Given the description of an element on the screen output the (x, y) to click on. 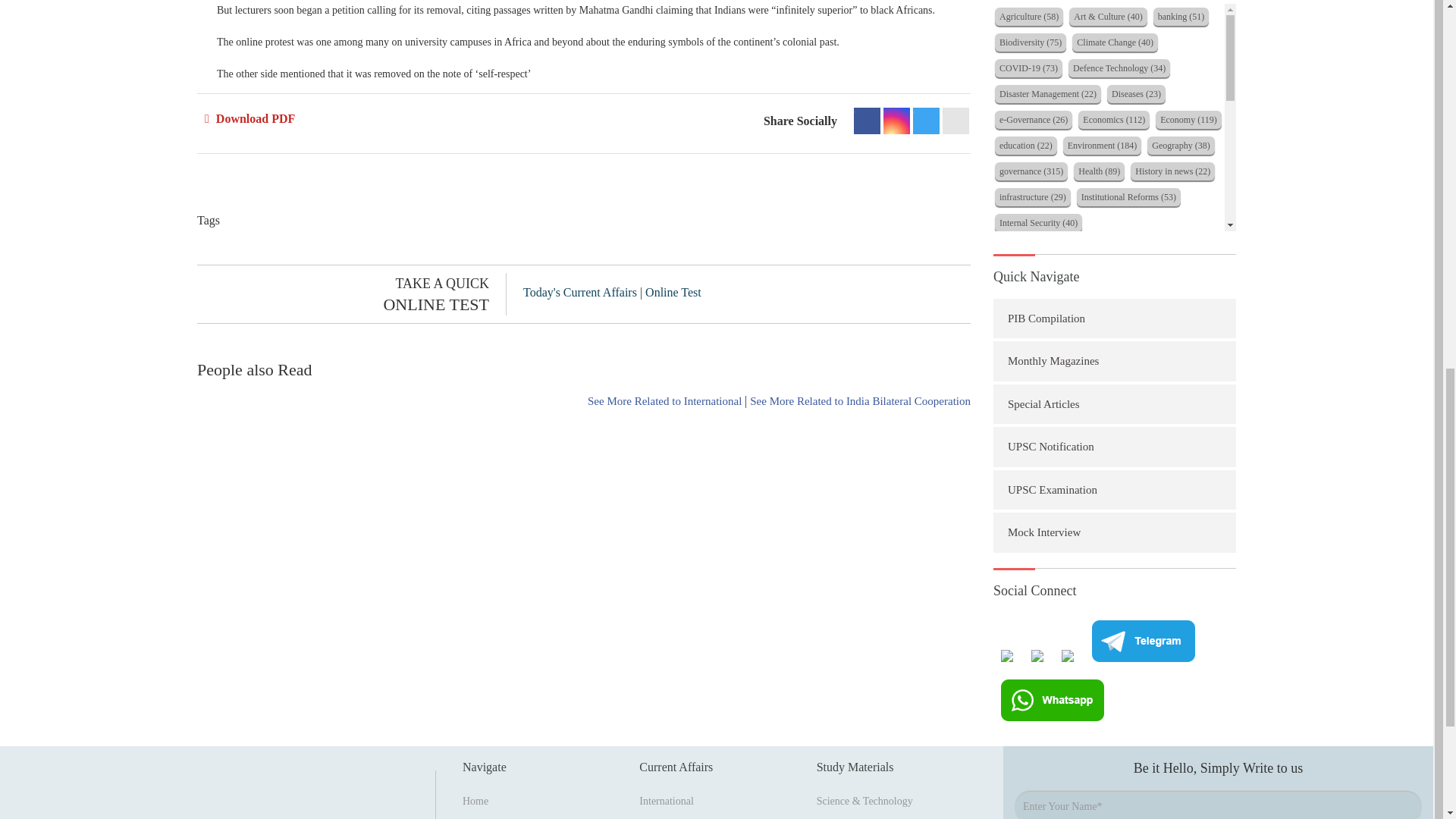
Telegram (925, 120)
Google Gmail (955, 120)
Instagram (896, 120)
Facebook (866, 120)
